Given the description of an element on the screen output the (x, y) to click on. 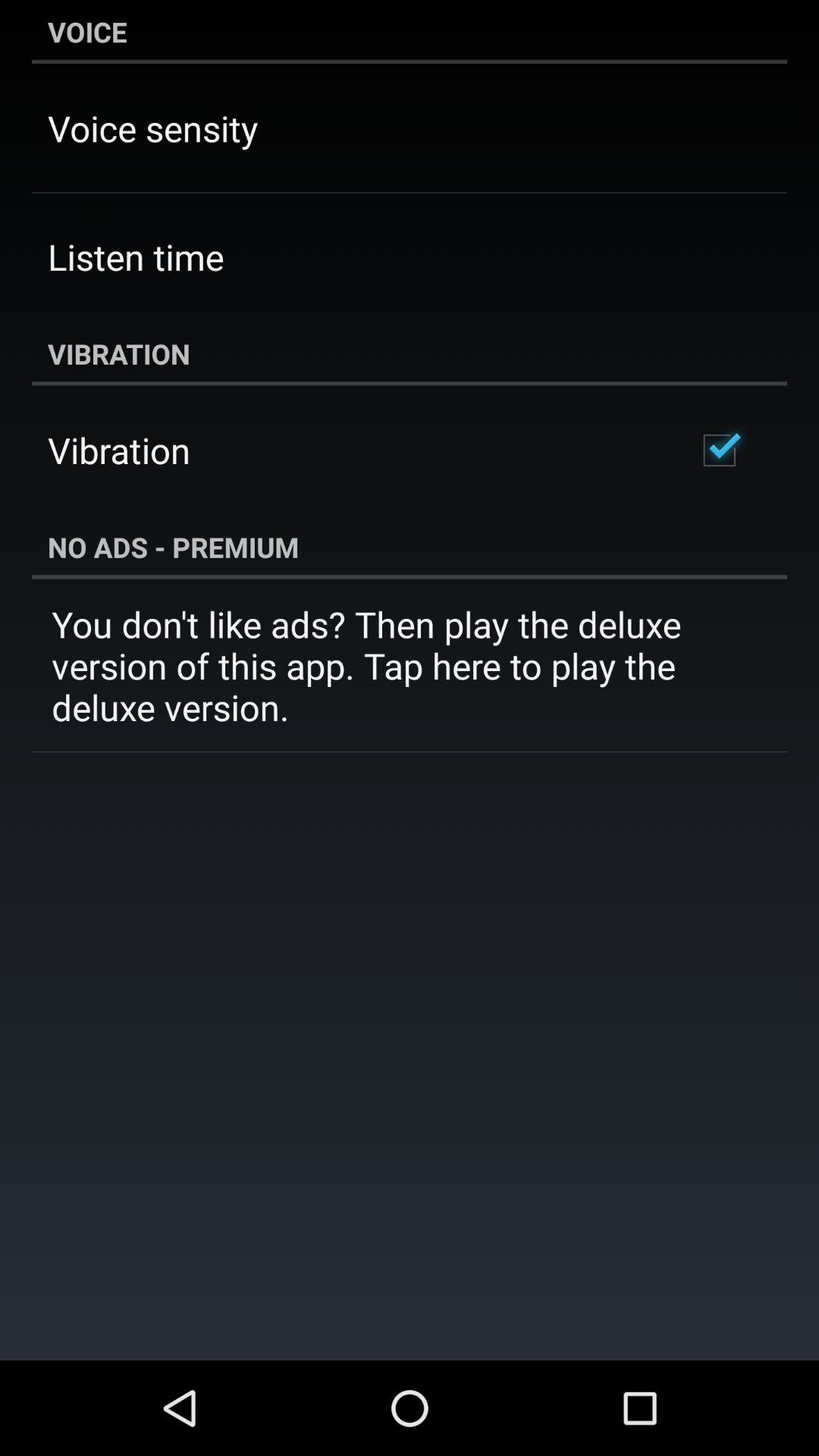
launch the item below voice icon (152, 128)
